Given the description of an element on the screen output the (x, y) to click on. 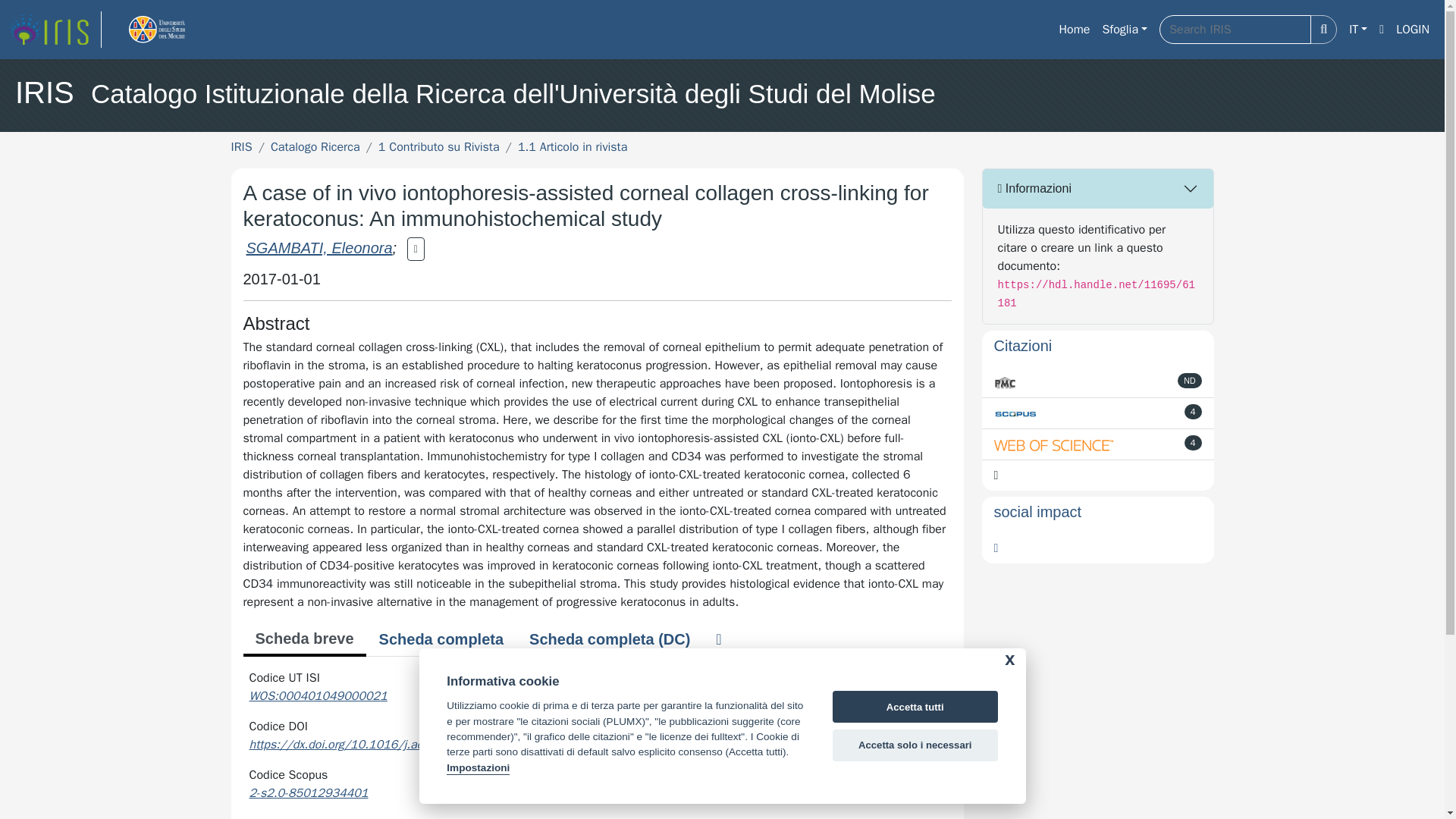
Scheda breve (304, 639)
WOS:000401049000021 (317, 695)
Sfoglia (1124, 29)
 Informazioni (1097, 188)
SGAMBATI, Eleonora (318, 247)
Scheda completa (441, 639)
IT (1357, 29)
IRIS (240, 146)
1.1 Articolo in rivista (572, 146)
aggiornato in data 13-07-2024 18:17 (1193, 411)
Catalogo Ricerca (314, 146)
2-s2.0-85012934401 (308, 792)
Home (1074, 29)
LOGIN (1412, 29)
1 Contributo su Rivista (438, 146)
